Given the description of an element on the screen output the (x, y) to click on. 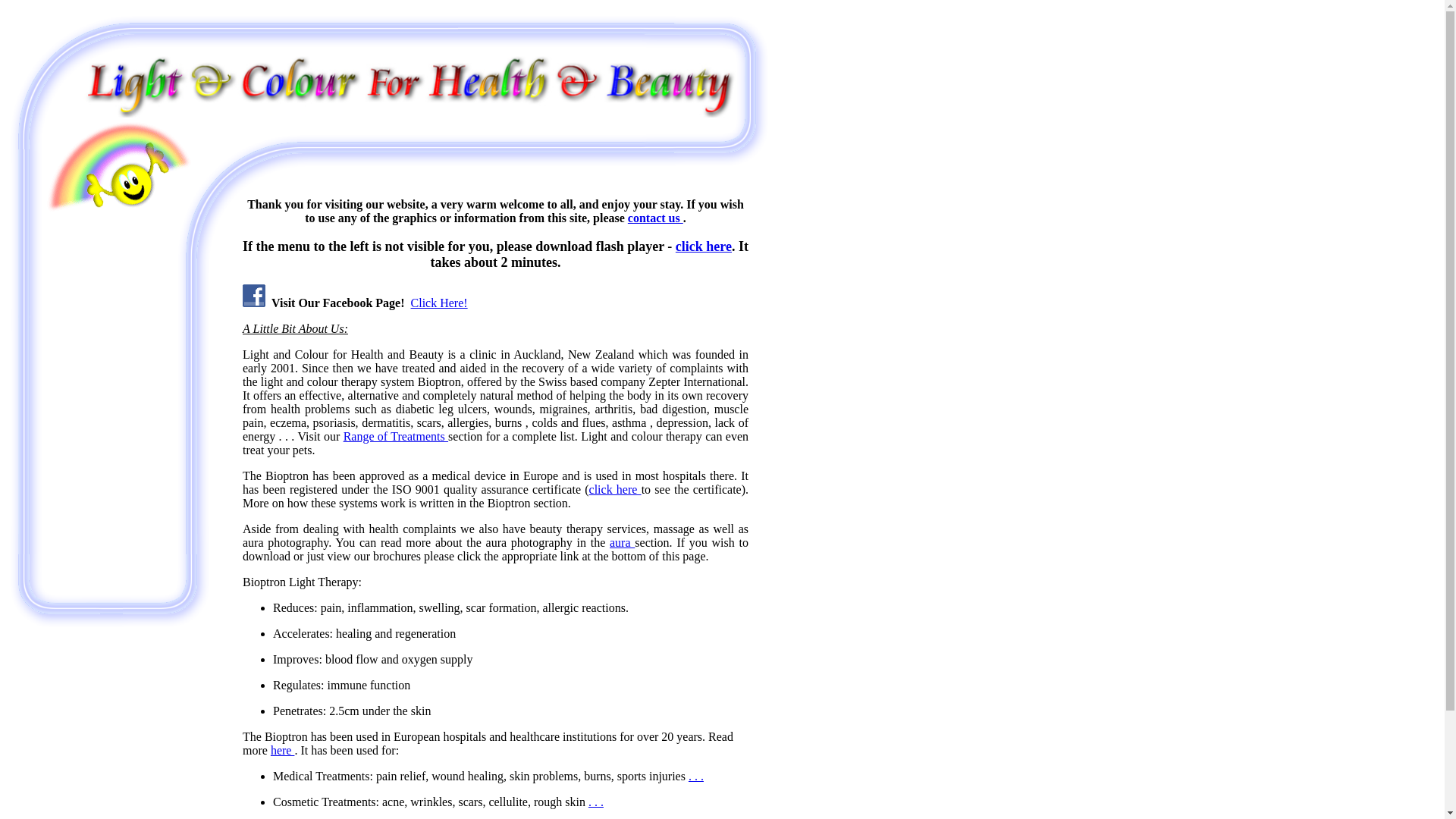
Range of Treatments (395, 436)
contact us (654, 217)
. . . (596, 801)
. . . (695, 775)
Click Here! (438, 302)
aura (622, 542)
here (282, 749)
click here (703, 246)
click here (615, 489)
